Given the description of an element on the screen output the (x, y) to click on. 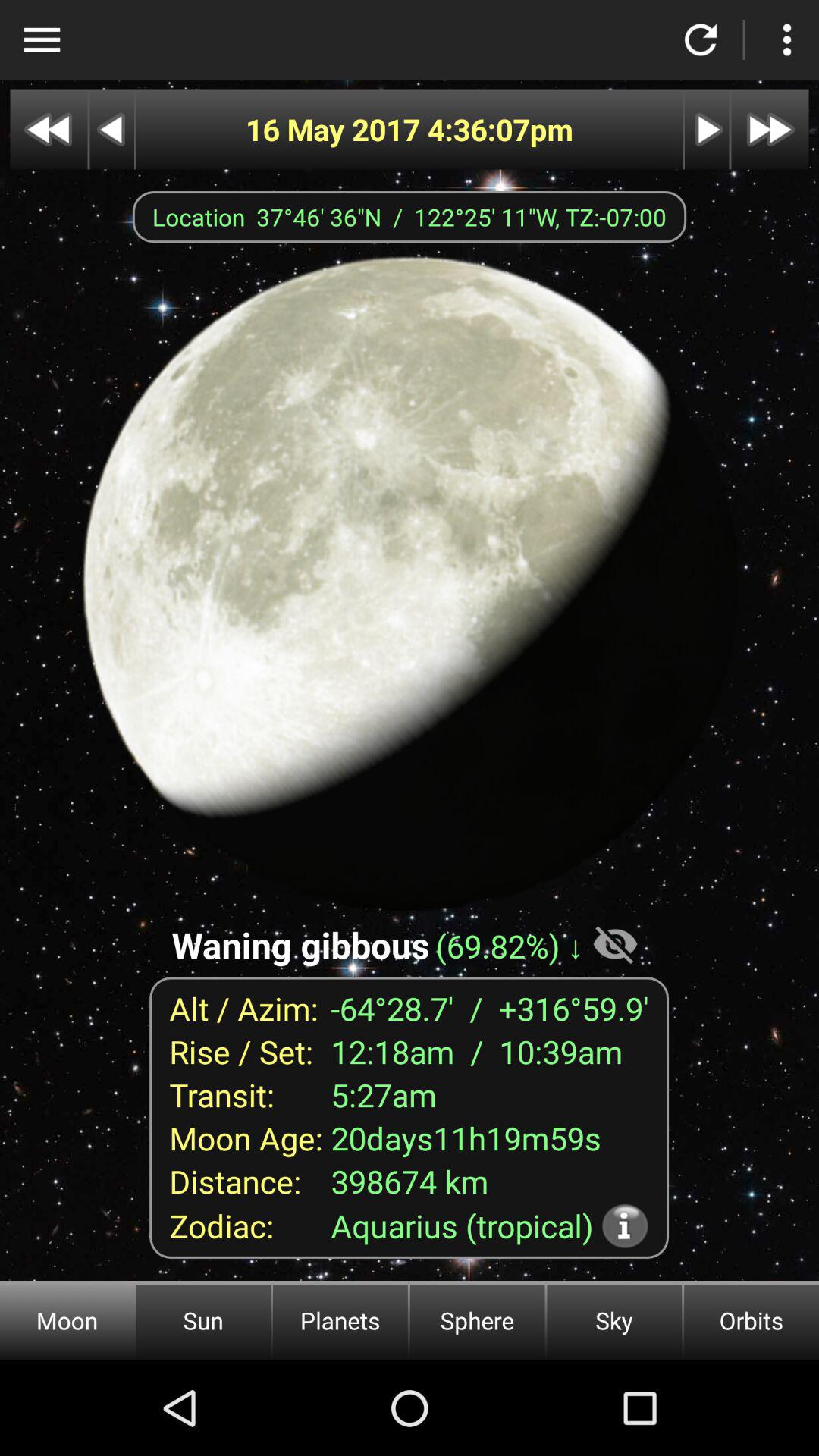
go back (111, 129)
